Given the description of an element on the screen output the (x, y) to click on. 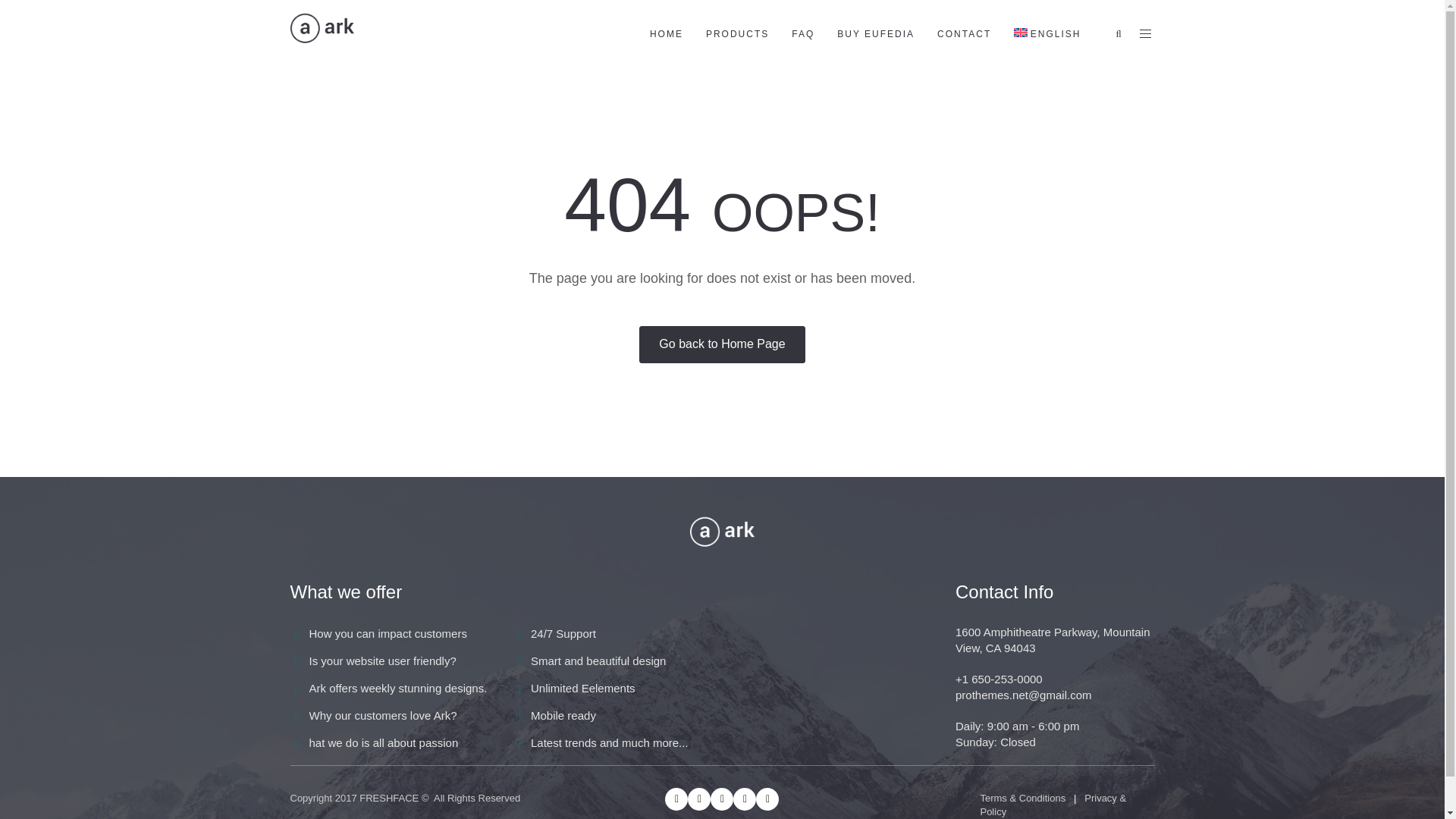
CONTACT (964, 33)
hat we do is all about passion (383, 742)
Why our customers love Ark? (382, 715)
Go back to Home Page (722, 343)
ENGLISH (1047, 33)
Latest trends and much more... (609, 742)
English (1047, 33)
Ark offers weekly stunning designs. (397, 687)
Mobile ready (563, 715)
PRODUCTS (737, 33)
